Given the description of an element on the screen output the (x, y) to click on. 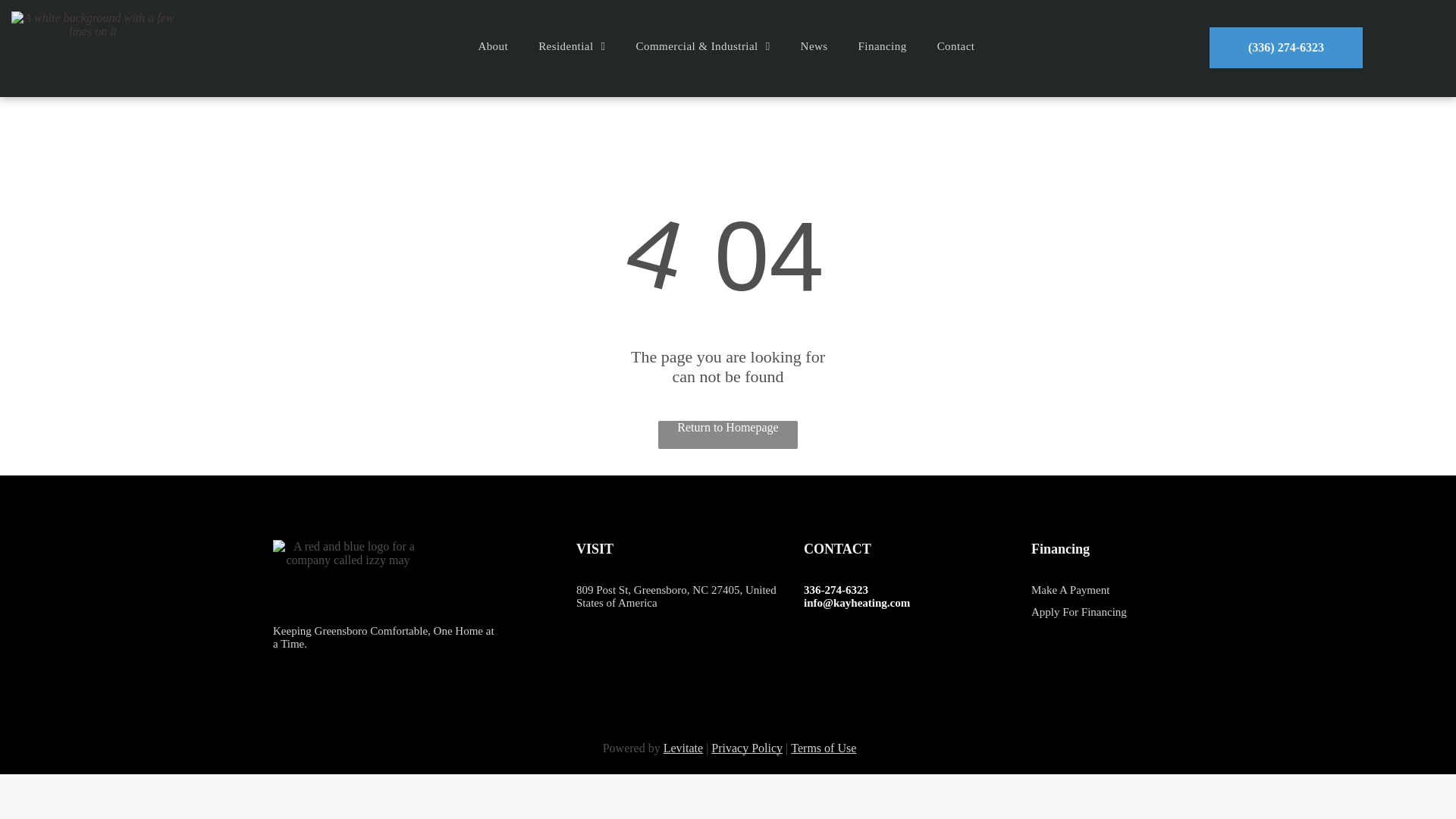
336-274-6323 (835, 589)
Financing (882, 46)
Return to Homepage (727, 434)
Apply For Financing (1078, 612)
About (492, 46)
Make A Payment (1069, 589)
Levitate (683, 748)
Terms of Use (823, 748)
Contact (955, 46)
News (814, 46)
Residential (571, 46)
Privacy Policy (747, 748)
